Given the description of an element on the screen output the (x, y) to click on. 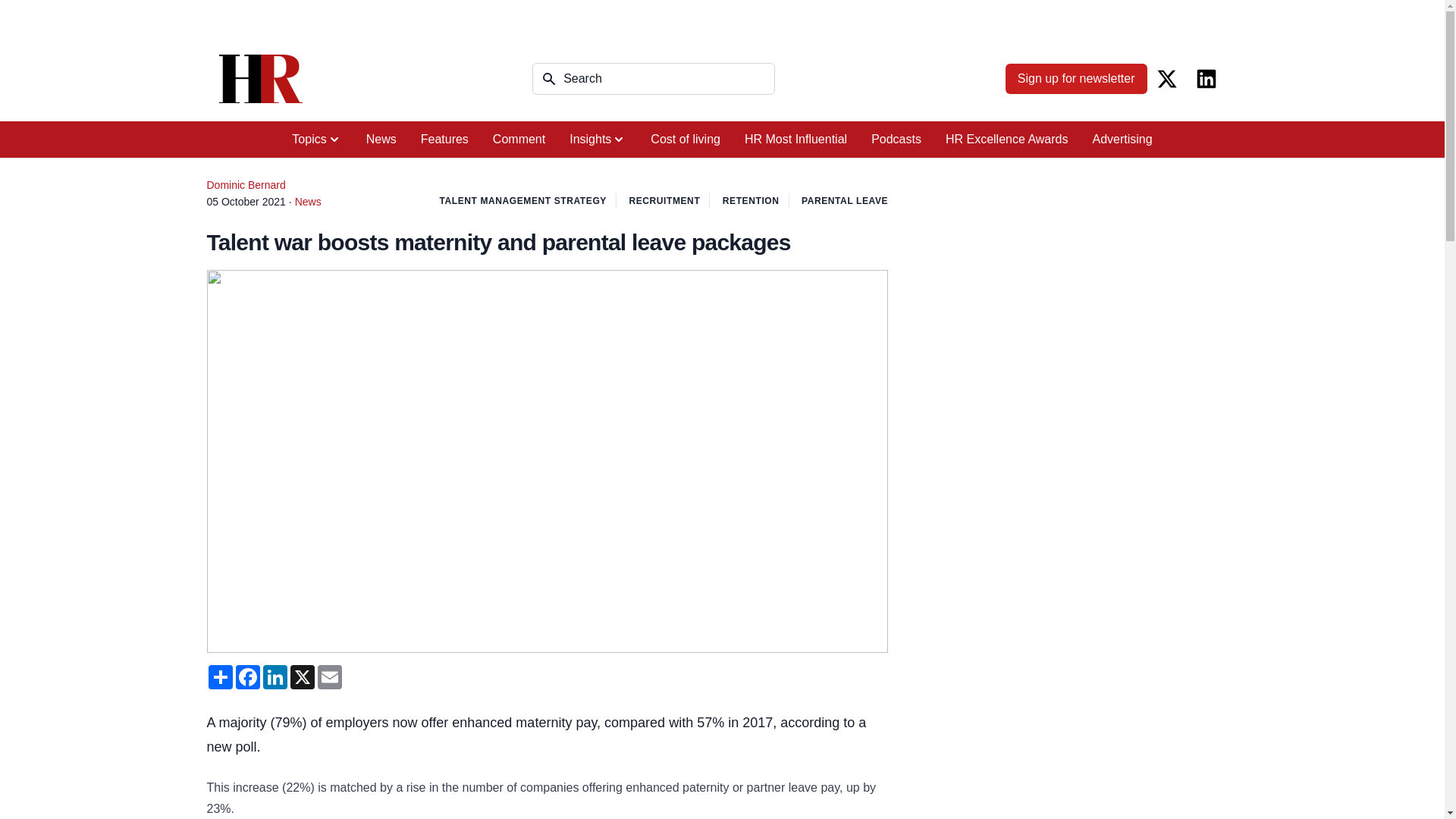
News (381, 139)
HR Most Influential (795, 139)
Sign up for newsletter (1076, 78)
Topics (316, 139)
Podcasts (896, 139)
Features (444, 139)
Cost of living (685, 139)
Comment (518, 139)
Insights (598, 139)
